Given the description of an element on the screen output the (x, y) to click on. 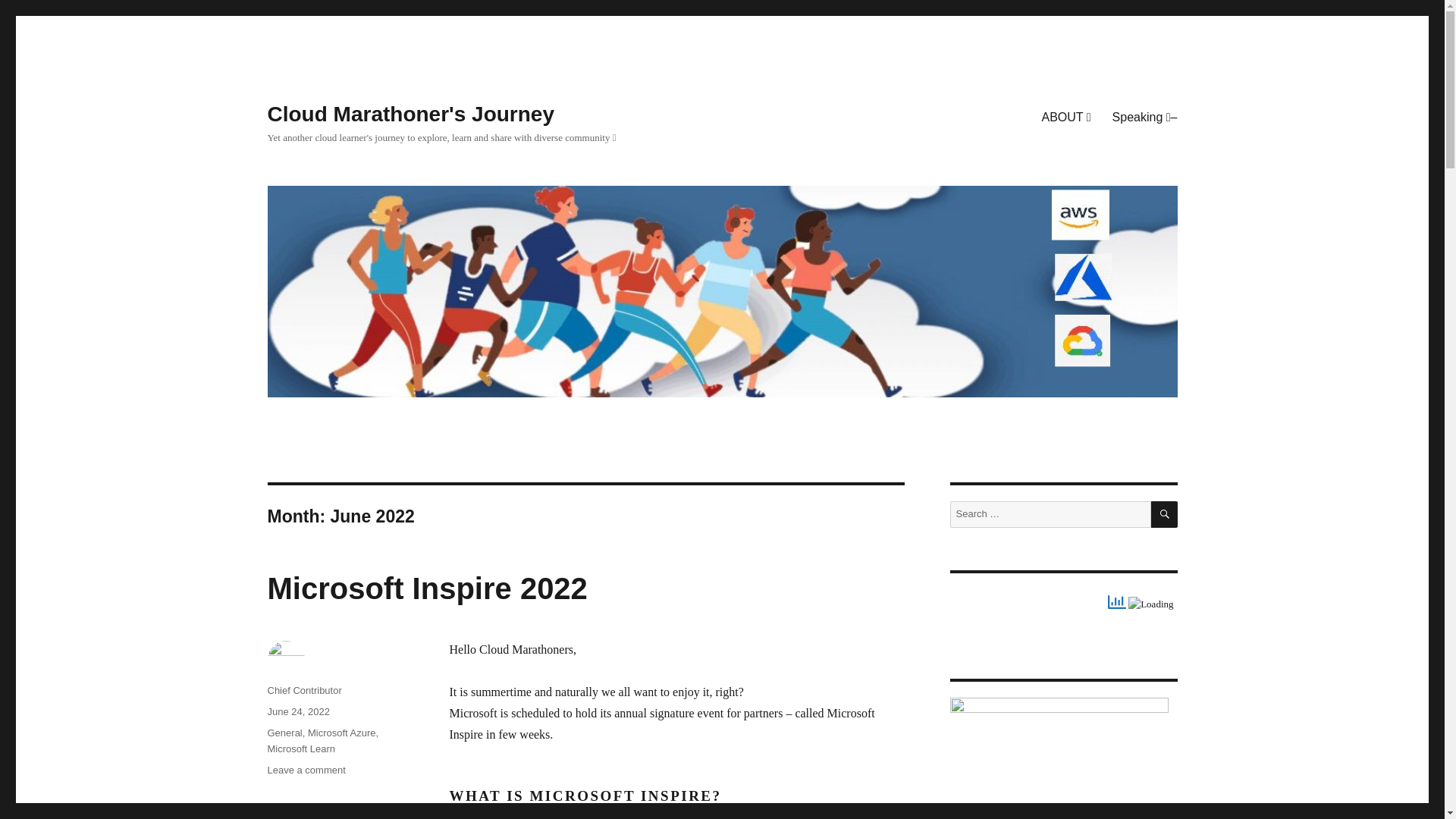
Microsoft Azure (305, 769)
Microsoft Inspire 2022 (341, 732)
Cloud Marathoner's Journey (426, 588)
General (410, 114)
SEARCH (283, 732)
June 24, 2022 (1164, 514)
Chief Contributor (297, 711)
Microsoft Learn (303, 690)
